Given the description of an element on the screen output the (x, y) to click on. 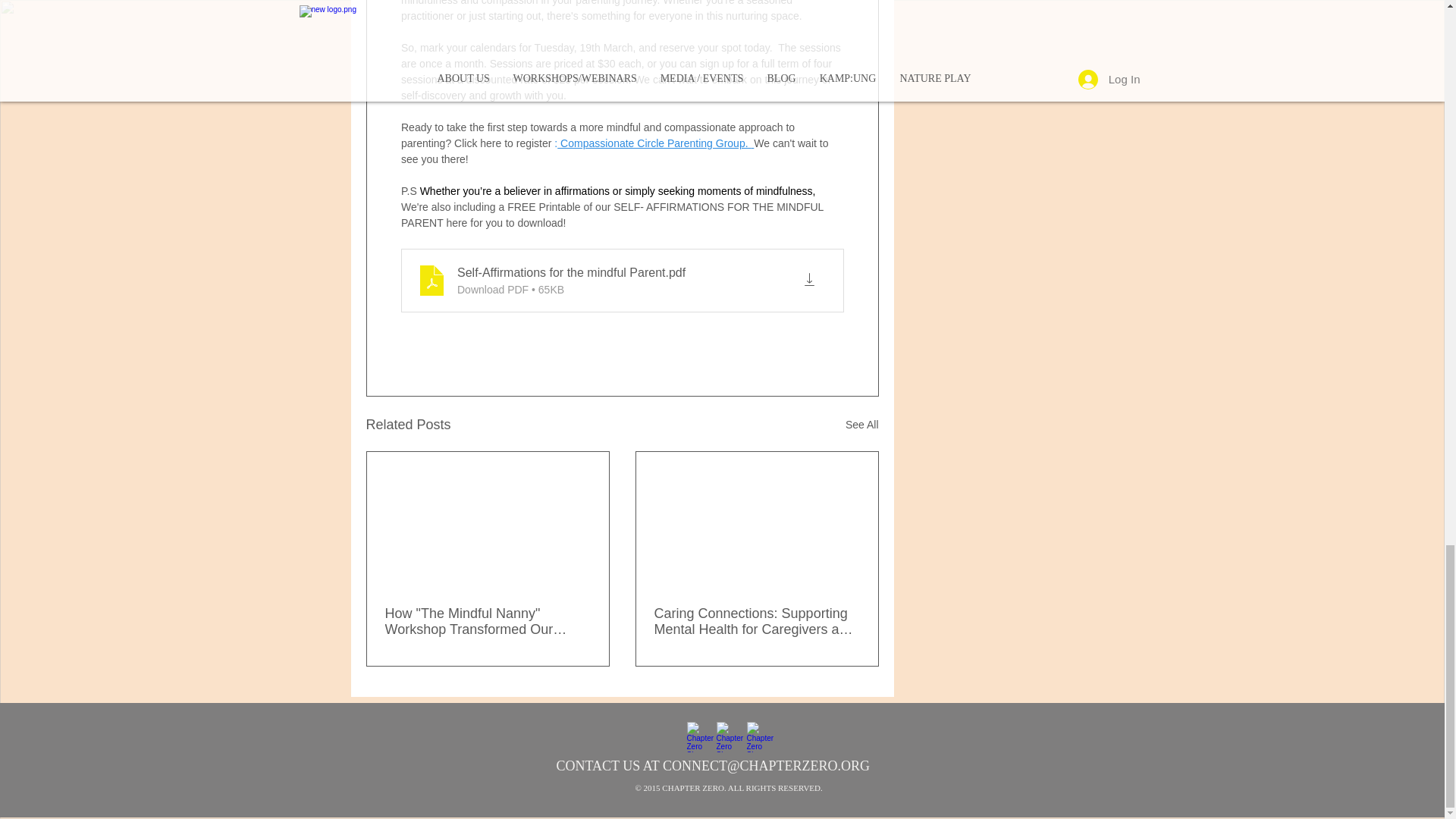
See All (862, 424)
 Compassionate Circle Parenting Group.  (654, 143)
Pinterest (759, 736)
Facebook (702, 736)
